Given the description of an element on the screen output the (x, y) to click on. 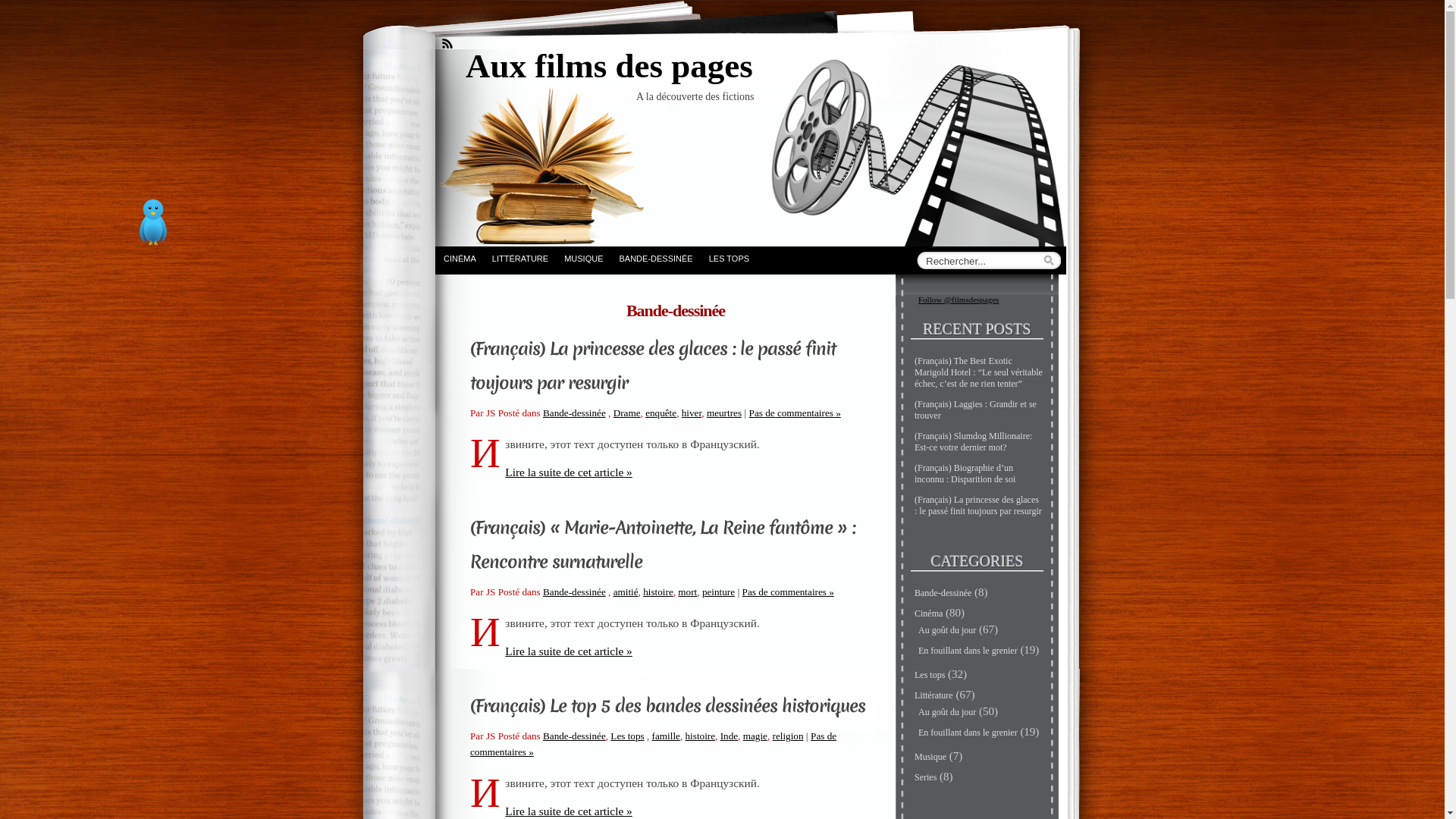
histoire Element type: text (658, 591)
meurtres Element type: text (723, 412)
En fouillant dans le grenier Element type: text (967, 650)
histoire Element type: text (700, 735)
Les tops Element type: text (626, 735)
magie Element type: text (755, 735)
Series Element type: text (925, 776)
Drame Element type: text (626, 412)
Les tops Element type: text (929, 674)
Inde Element type: text (728, 735)
LES TOPS Element type: text (728, 257)
MUSIQUE Element type: text (582, 257)
En fouillant dans le grenier Element type: text (967, 732)
Follow @filmsdespages Element type: text (958, 299)
peinture Element type: text (718, 591)
hiver Element type: text (691, 412)
mort Element type: text (686, 591)
famille Element type: text (666, 735)
religion Element type: text (787, 735)
Musique Element type: text (930, 756)
